Given the description of an element on the screen output the (x, y) to click on. 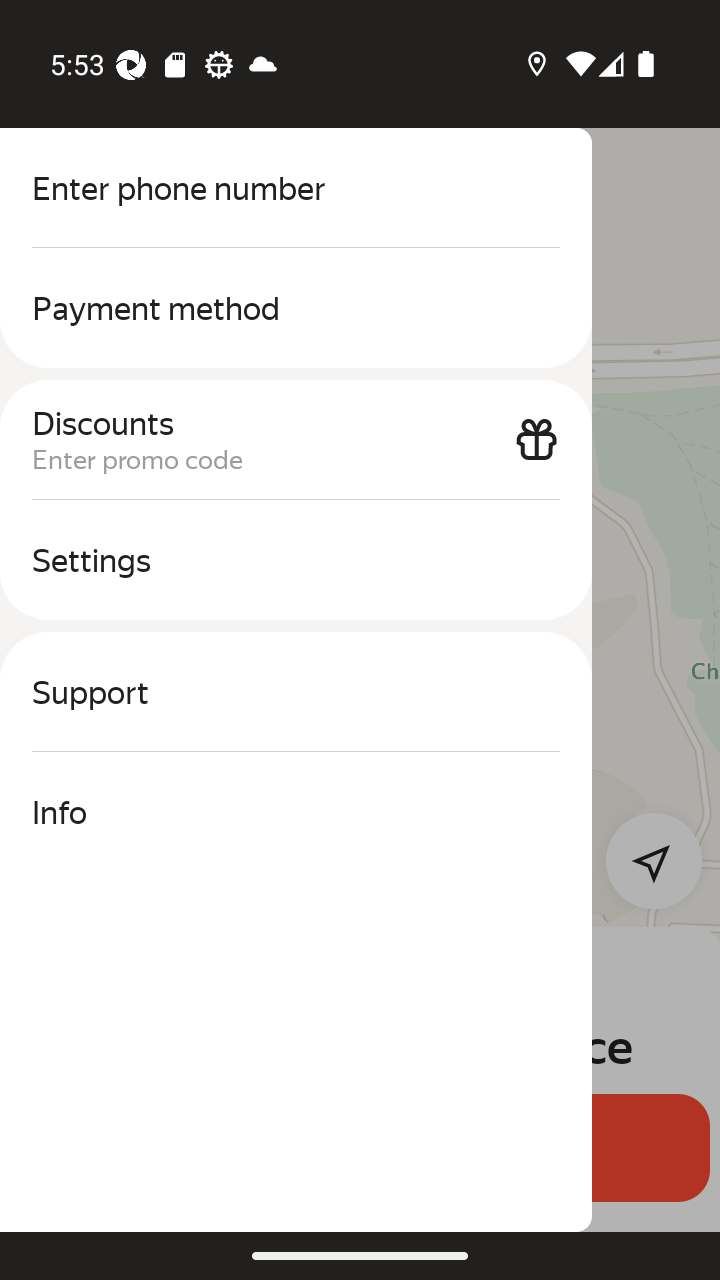
Enter phone number (295, 188)
Payment method (295, 308)
Settings (295, 559)
Support (295, 692)
Info (295, 811)
